Given the description of an element on the screen output the (x, y) to click on. 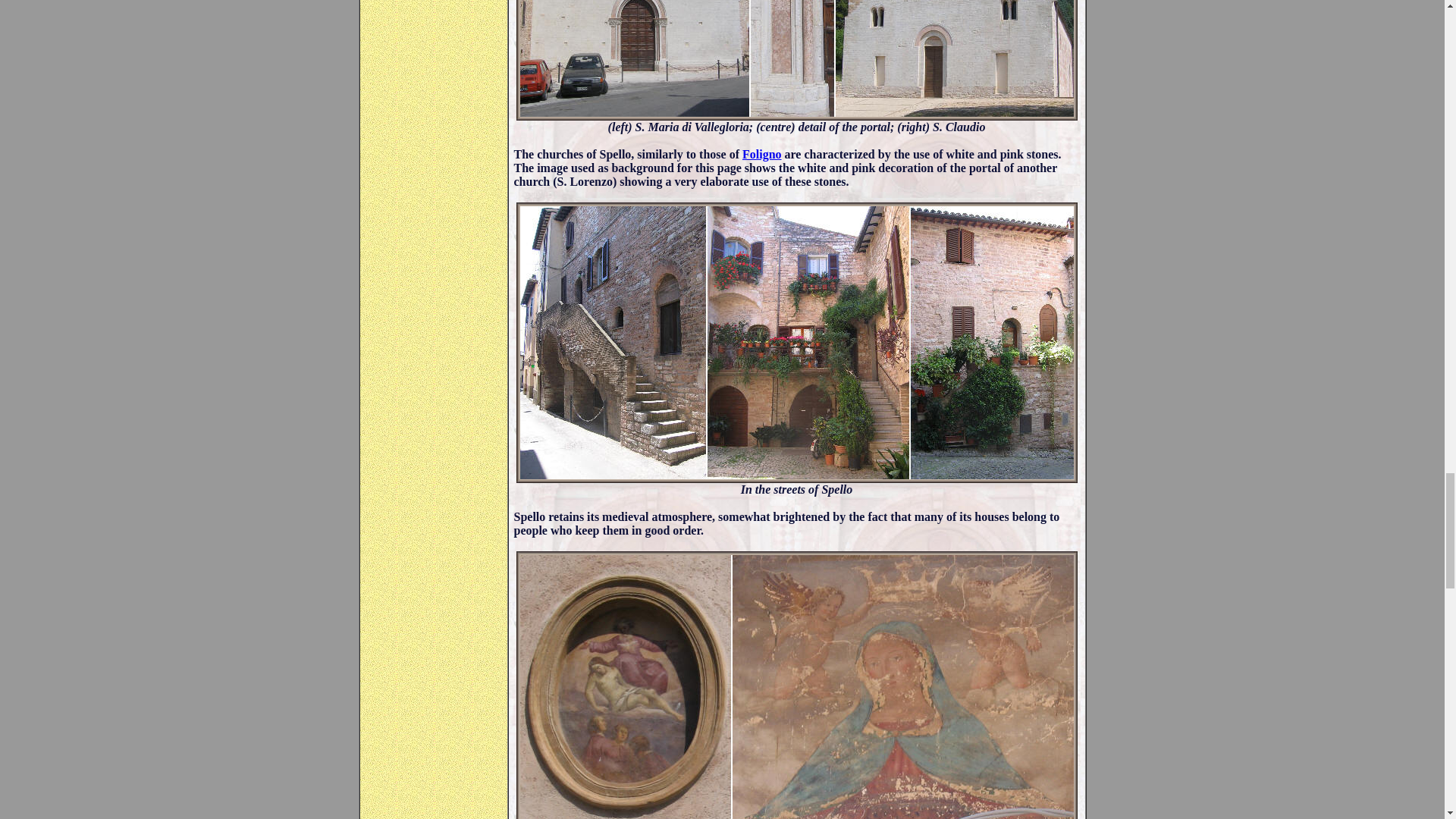
Foligno (761, 154)
